Given the description of an element on the screen output the (x, y) to click on. 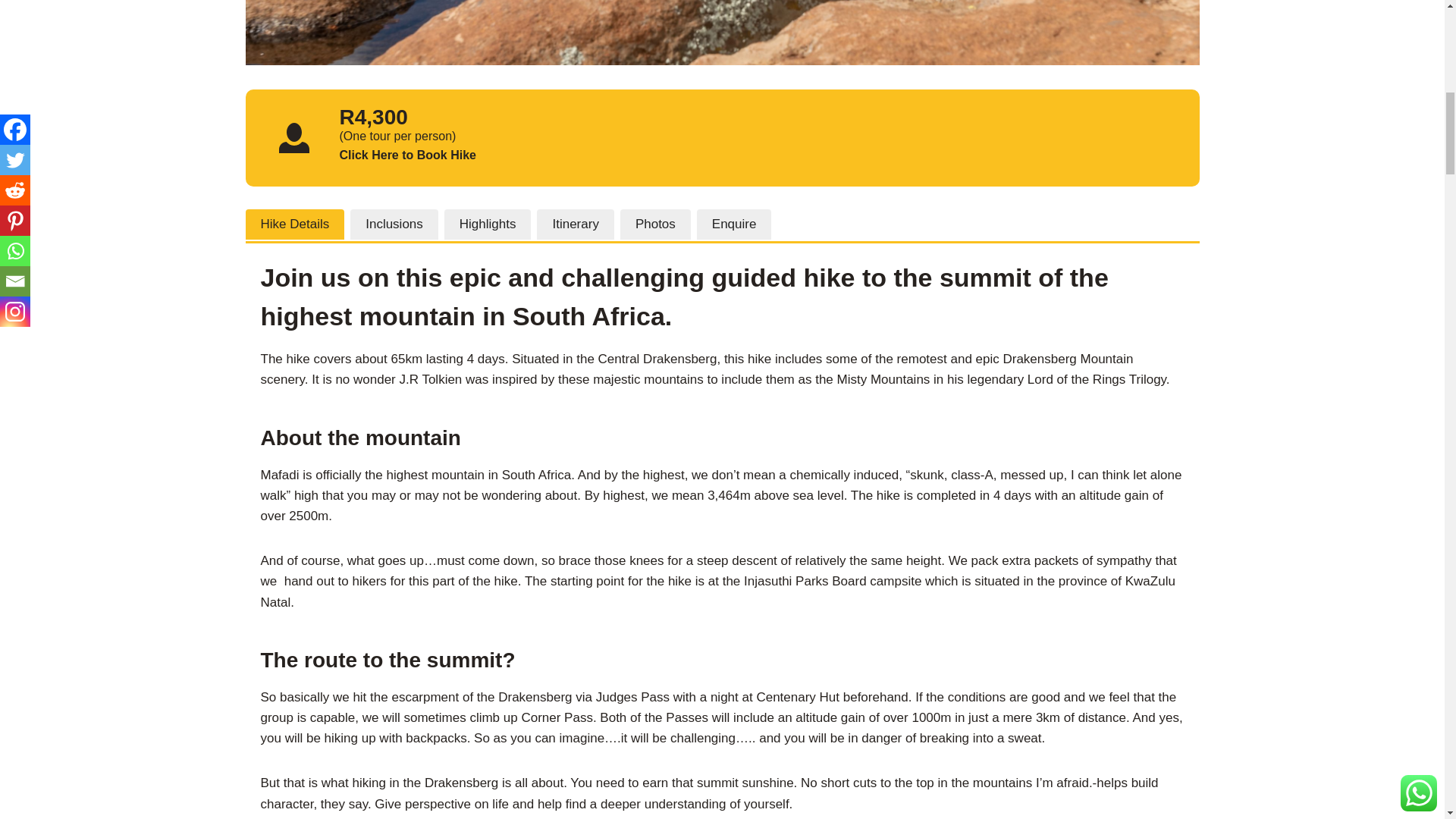
Highlights (487, 224)
Itinerary (574, 224)
Inclusions (394, 224)
Hike Details (295, 224)
